Given the description of an element on the screen output the (x, y) to click on. 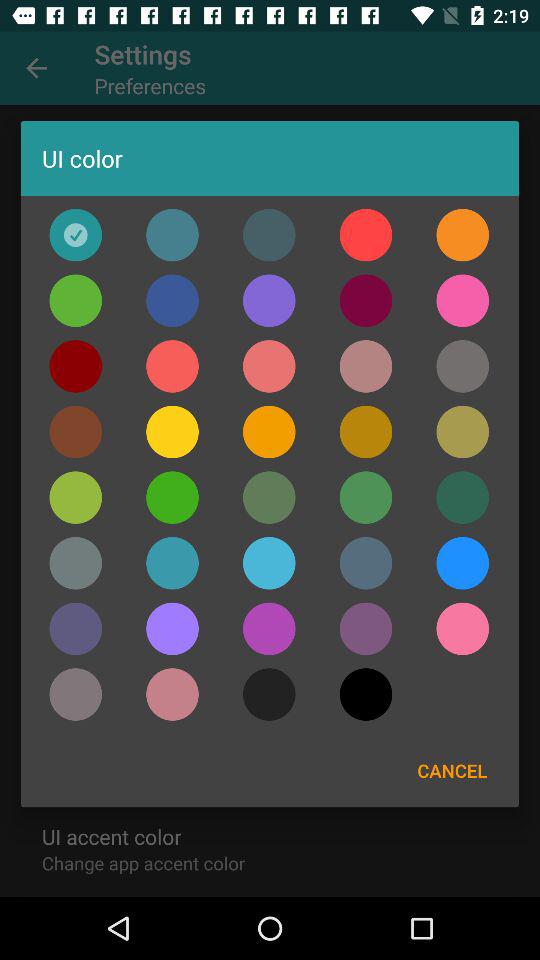
pick color (269, 431)
